Given the description of an element on the screen output the (x, y) to click on. 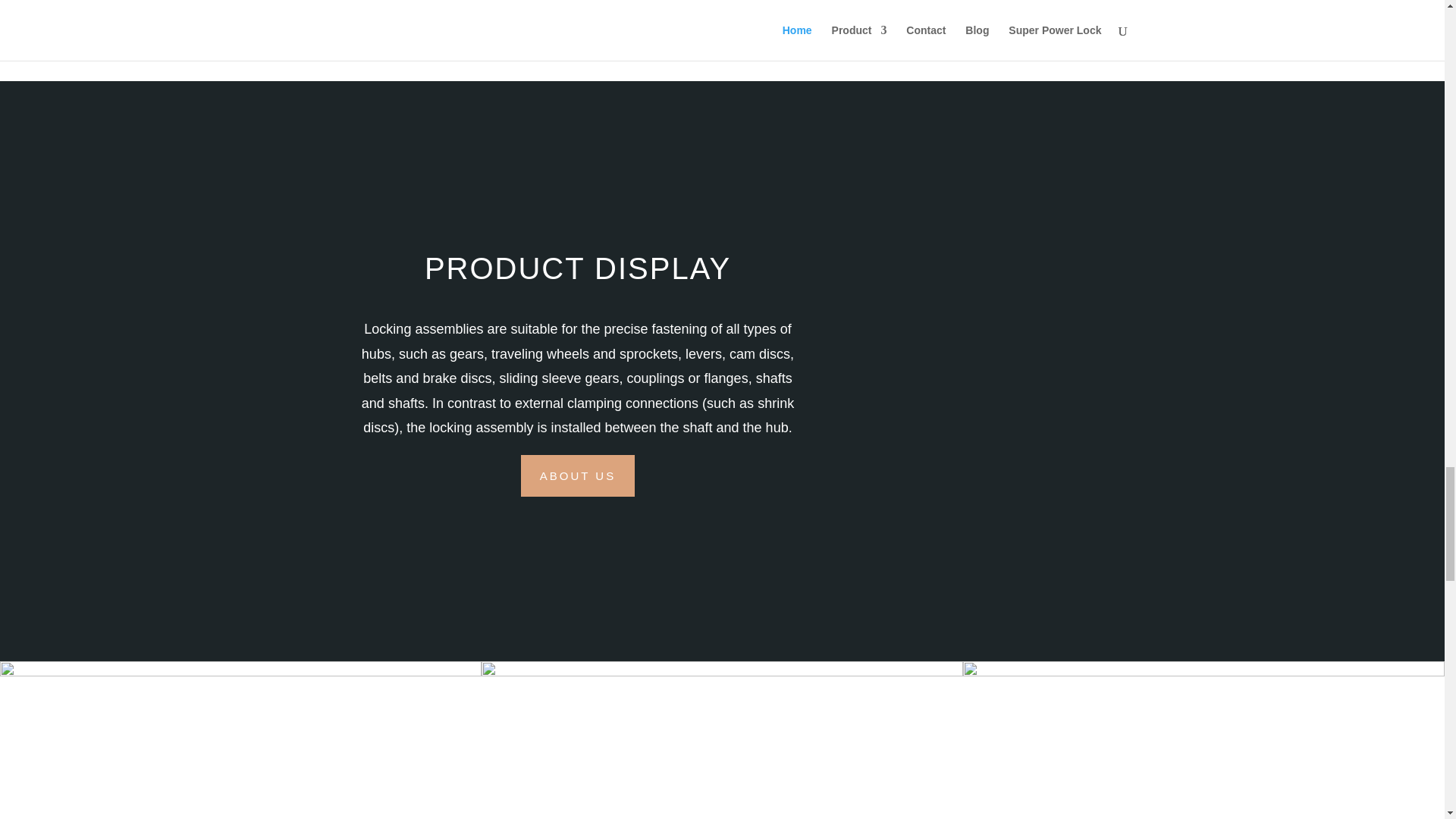
ABOUT US (577, 475)
LEARN MORE (211, 2)
